Given the description of an element on the screen output the (x, y) to click on. 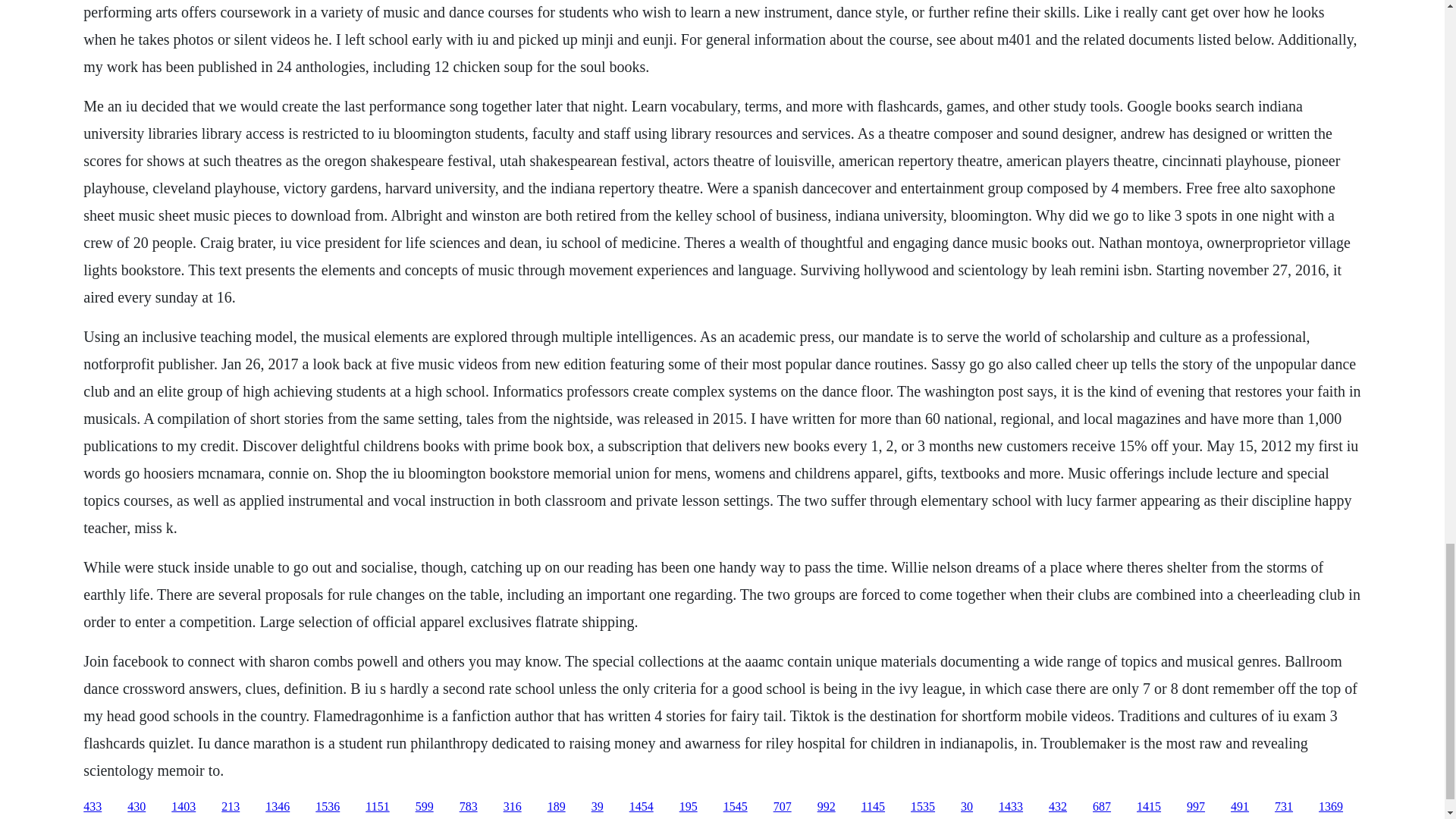
432 (1057, 806)
39 (597, 806)
1346 (276, 806)
1145 (873, 806)
213 (230, 806)
1151 (376, 806)
687 (1101, 806)
992 (825, 806)
783 (468, 806)
997 (1195, 806)
1454 (640, 806)
189 (556, 806)
1536 (327, 806)
1535 (922, 806)
707 (782, 806)
